Given the description of an element on the screen output the (x, y) to click on. 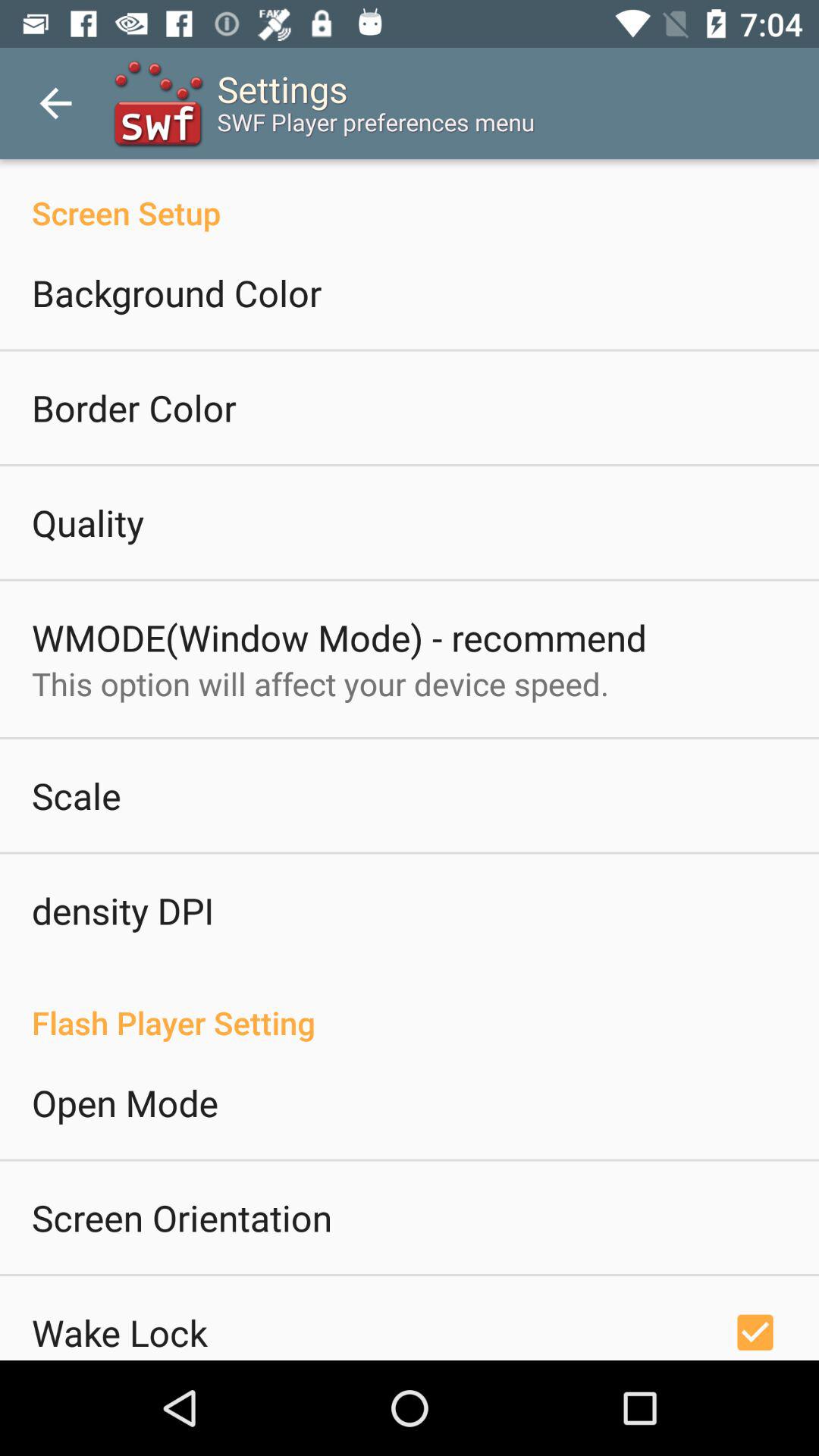
turn off screen orientation icon (181, 1217)
